Given the description of an element on the screen output the (x, y) to click on. 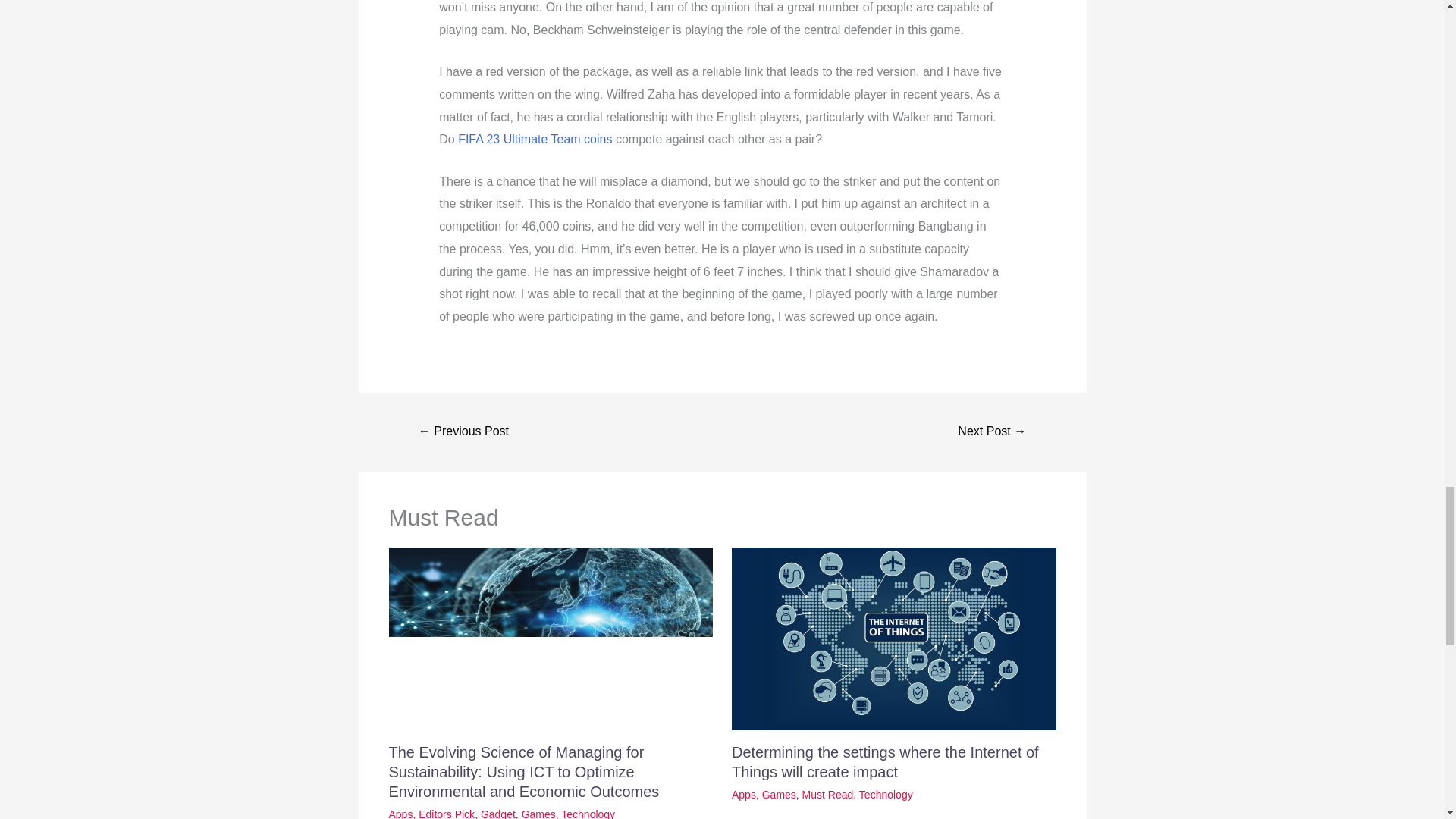
Editors Pick (446, 813)
Popular Slot Machine Games to Try Out (991, 432)
Technology (885, 794)
Gadget (497, 813)
Apps (400, 813)
Games (778, 794)
Technology (587, 813)
Must Read (827, 794)
Games (538, 813)
FIFA 23 Ultimate Team coins (534, 138)
Apps (743, 794)
